Given the description of an element on the screen output the (x, y) to click on. 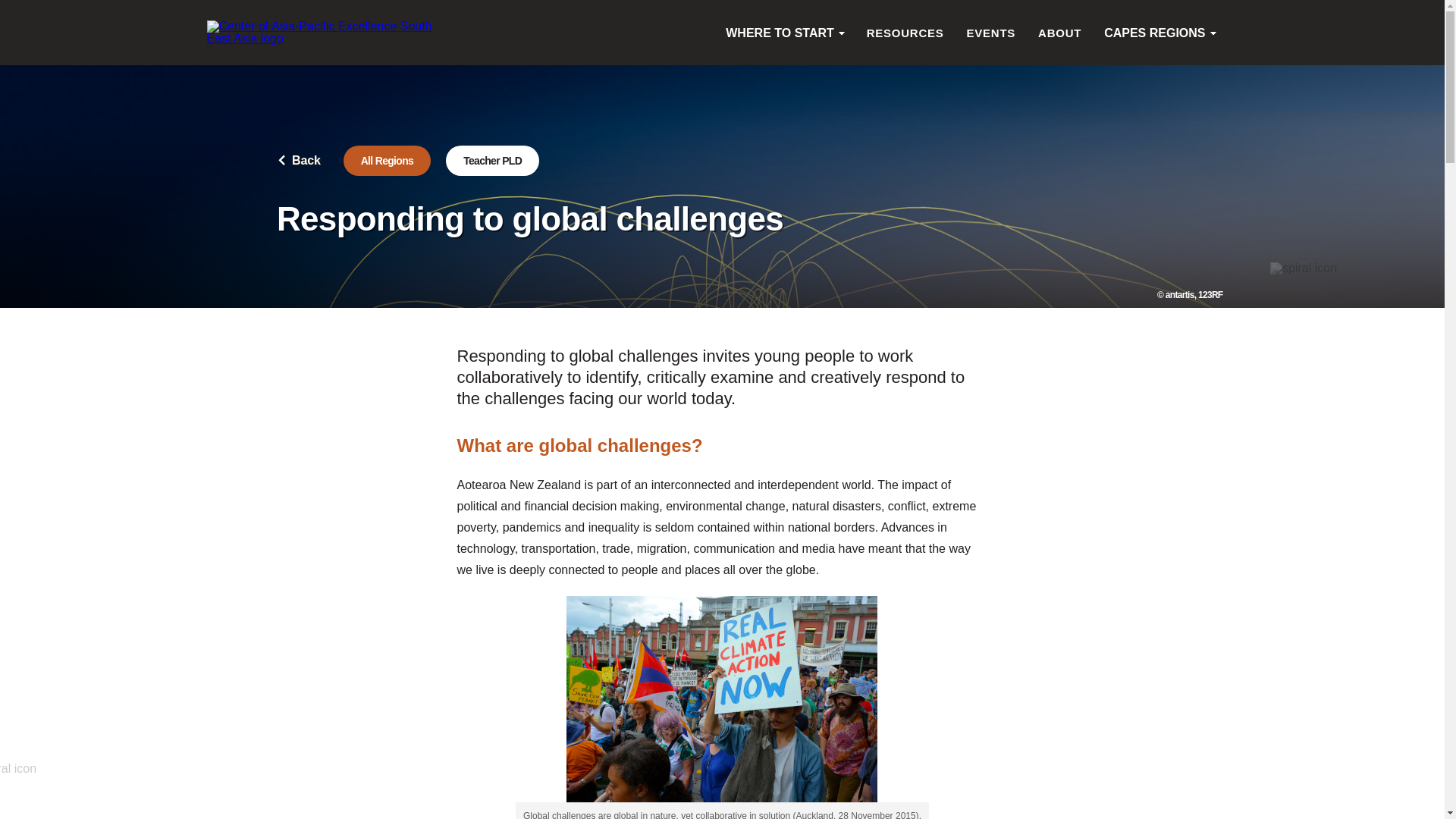
RESOURCES (904, 32)
ABOUT (1059, 32)
EVENTS (991, 32)
